Given the description of an element on the screen output the (x, y) to click on. 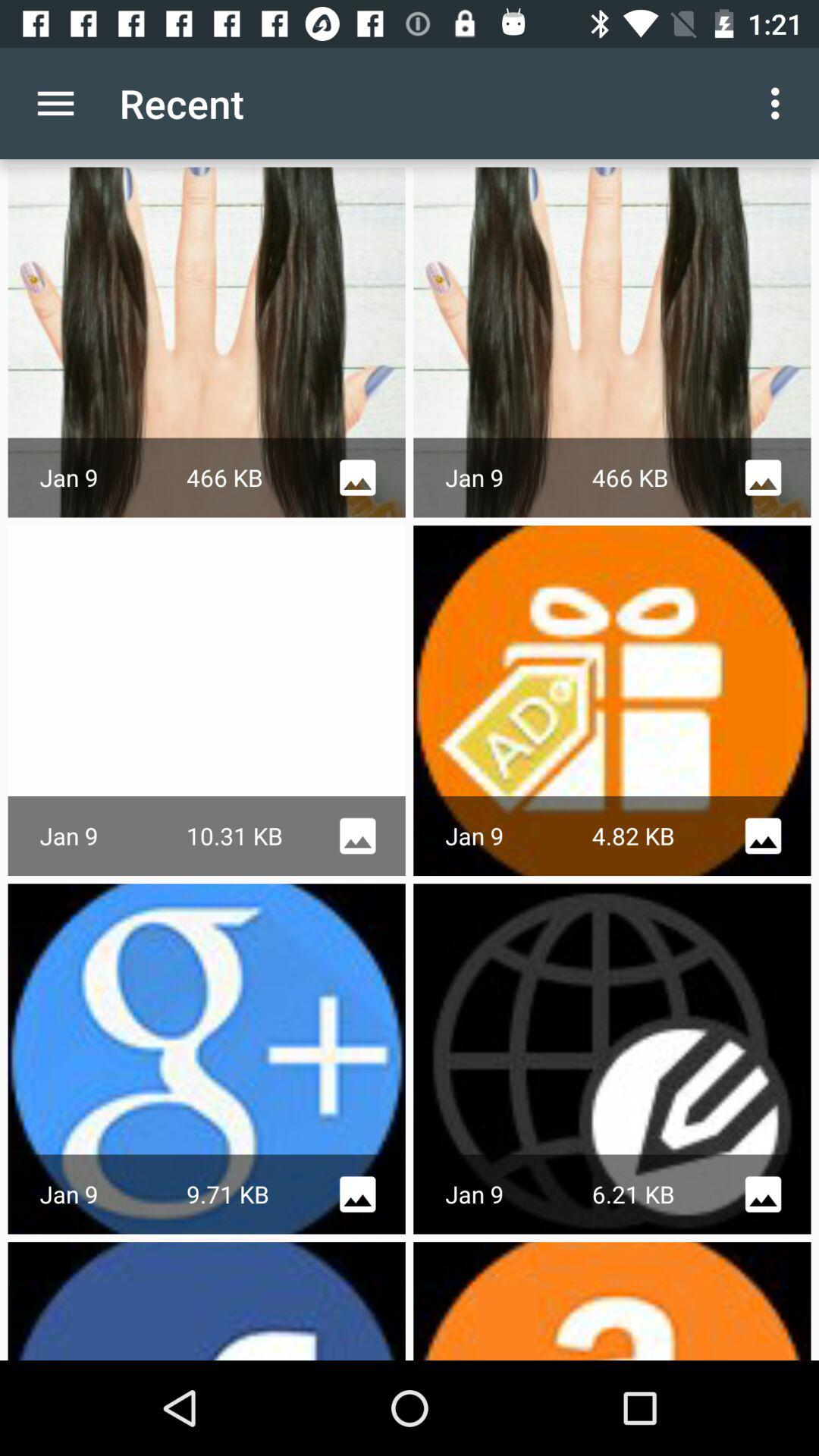
press the item next to the recent (779, 103)
